Given the description of an element on the screen output the (x, y) to click on. 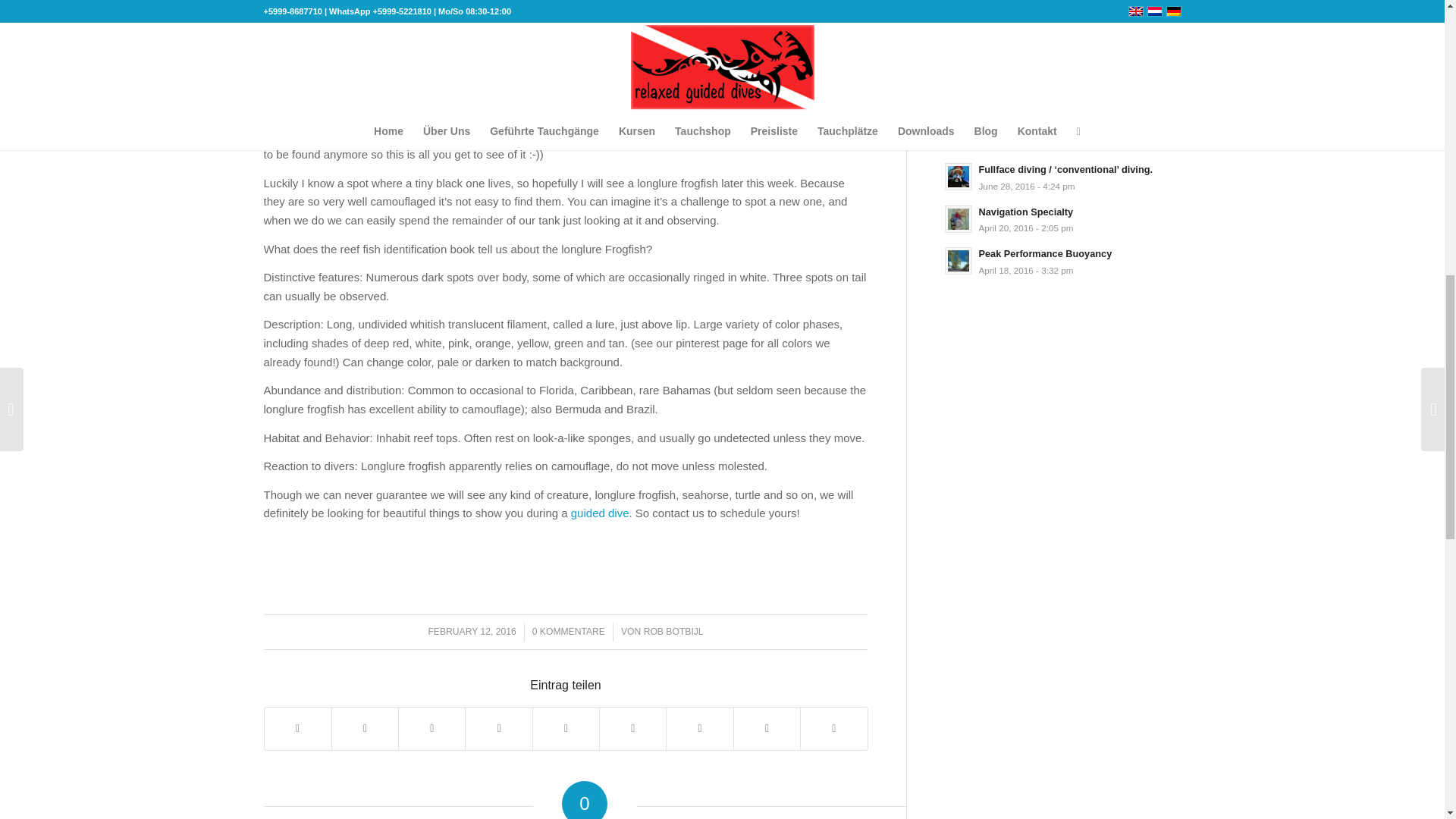
0 KOMMENTARE (568, 631)
guided dive (599, 512)
Posts by Rob Botbijl (673, 631)
guided dive (591, 116)
ROB BOTBIJL (673, 631)
